Given the description of an element on the screen output the (x, y) to click on. 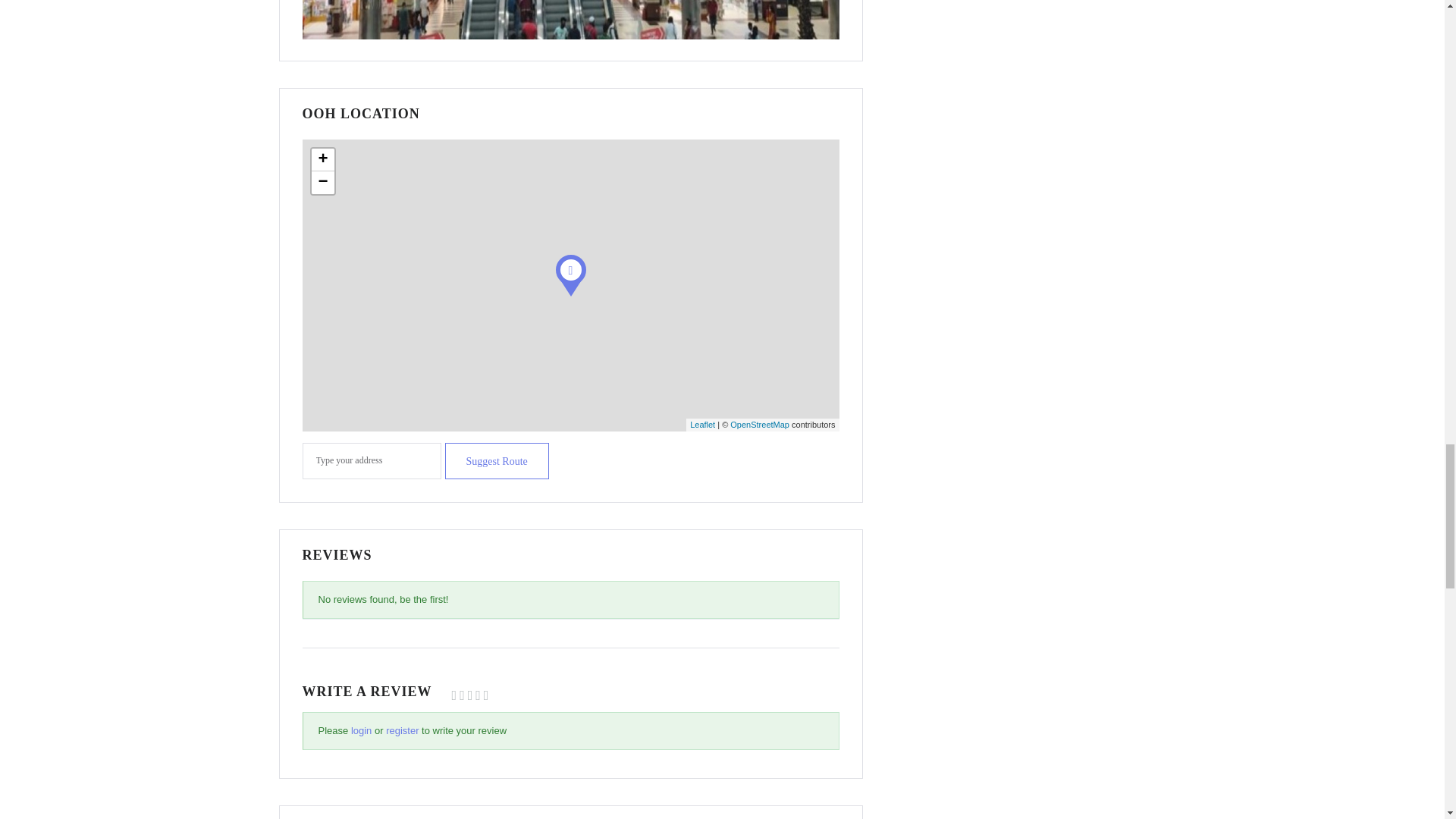
Zoom in (322, 159)
Zoom out (322, 182)
A JS library for interactive maps (702, 424)
